Given the description of an element on the screen output the (x, y) to click on. 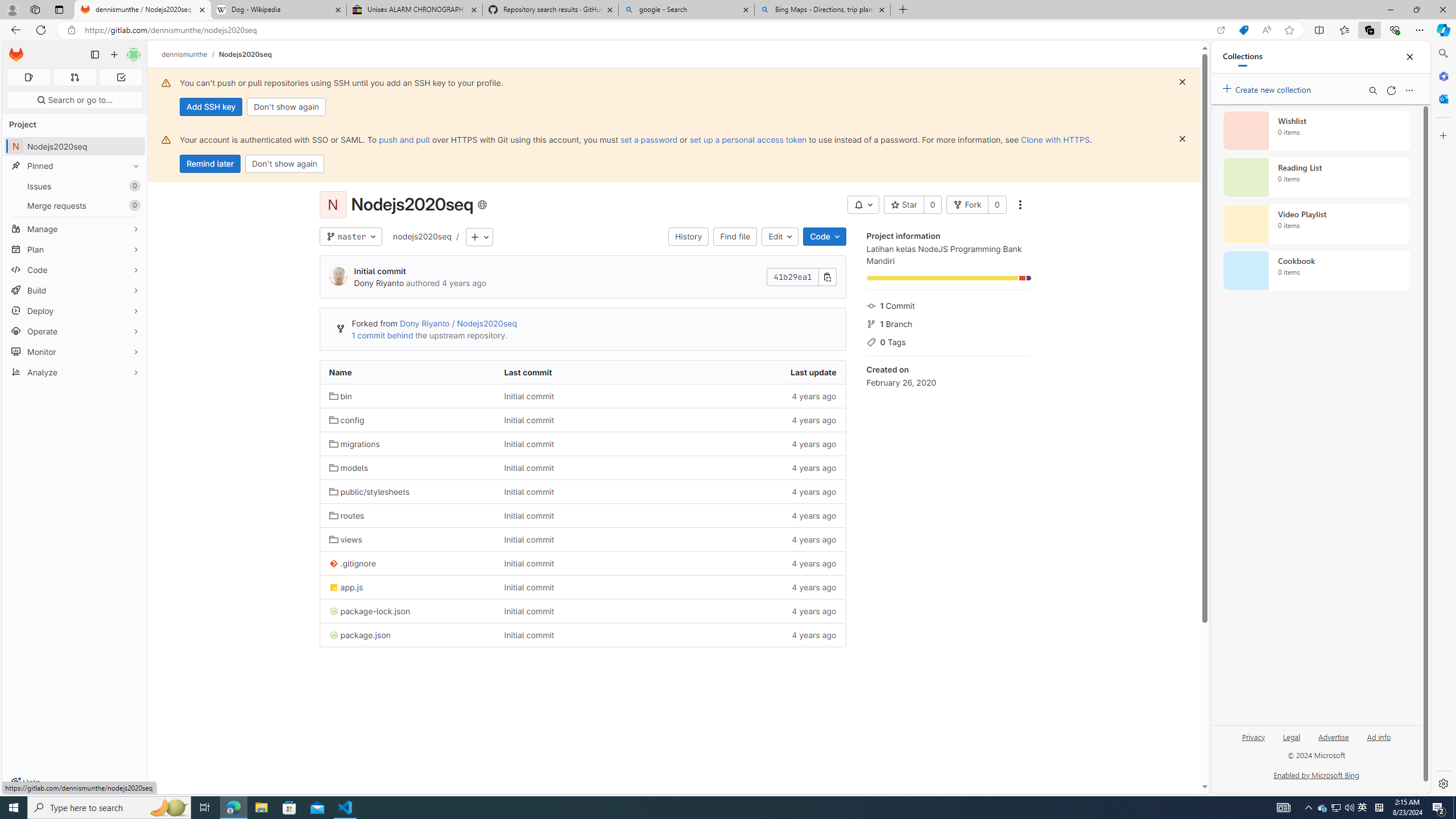
bin (340, 395)
migrations (407, 443)
Dony Riyanto / Nodejs2020seq (457, 323)
config (407, 419)
History (688, 236)
0 Tags (948, 340)
Analyze (74, 371)
